Given the description of an element on the screen output the (x, y) to click on. 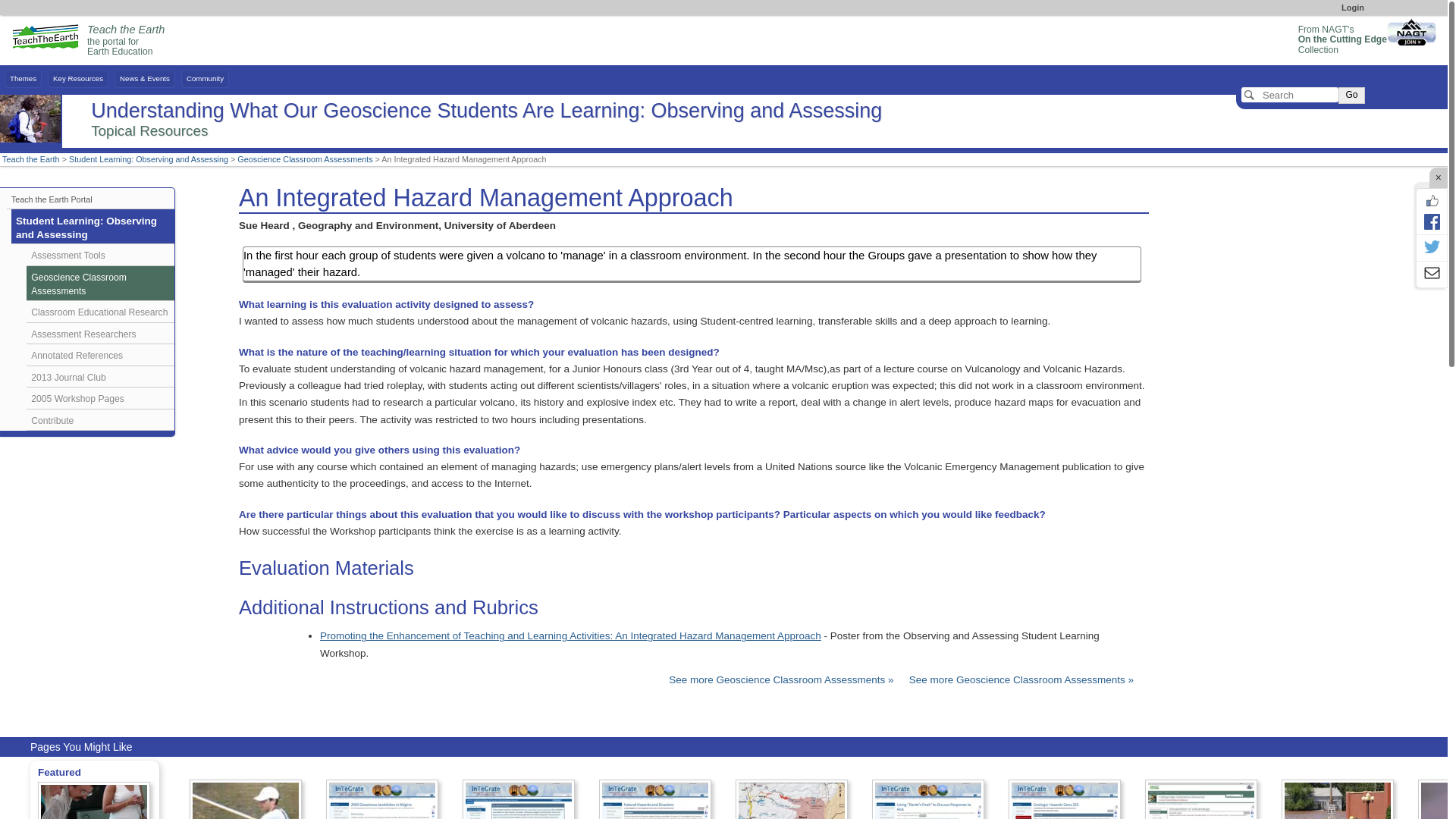
Like this page on Facebook (1431, 200)
Share this page on Facebook (1431, 221)
Mail this page to a friend (1431, 274)
Tweet this page (1342, 39)
Themes (1431, 248)
